Given the description of an element on the screen output the (x, y) to click on. 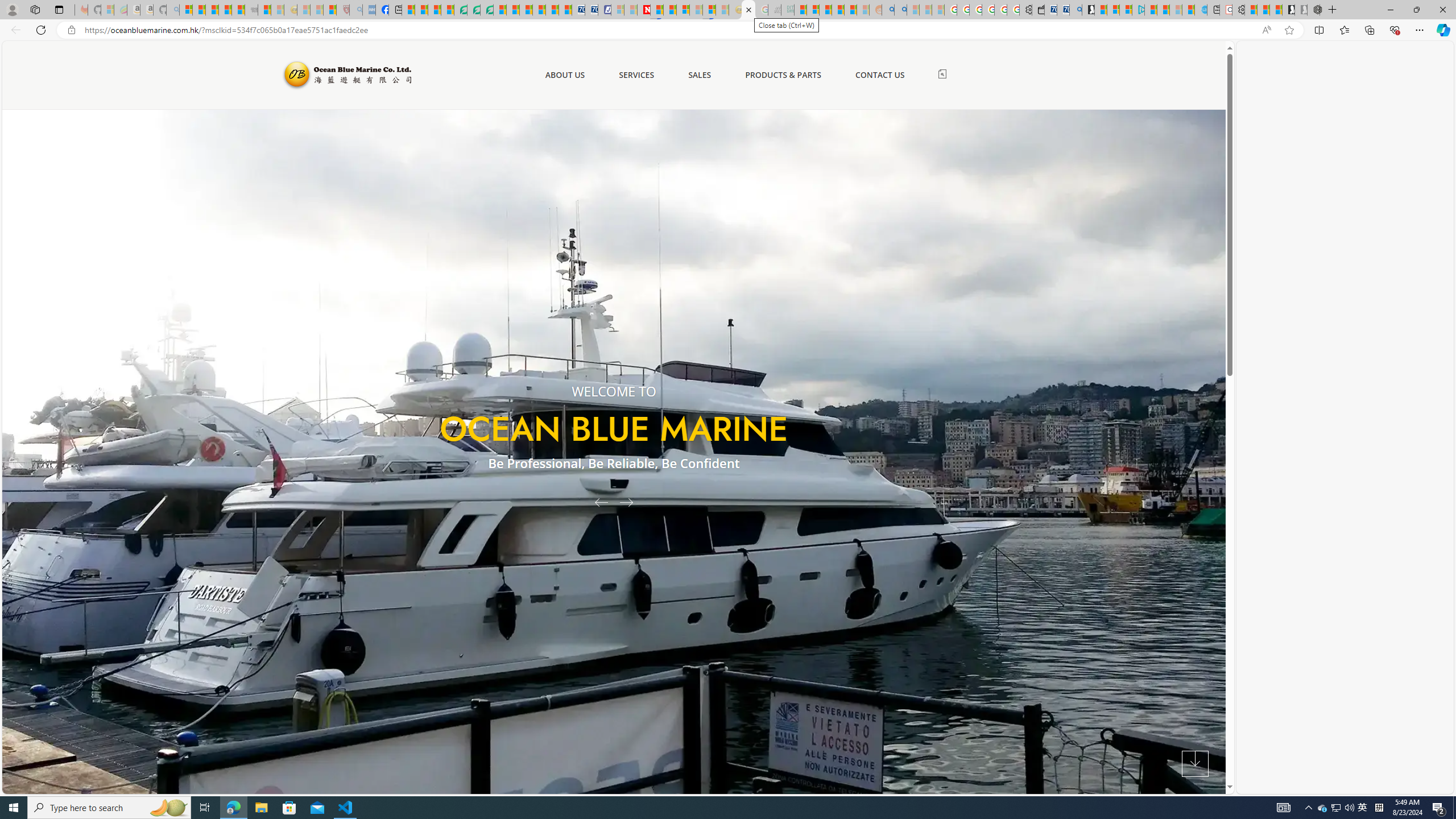
Latest Politics News & Archive | Newsweek.com (643, 9)
ABOUT US (564, 75)
SERVICES (636, 75)
